Given the description of an element on the screen output the (x, y) to click on. 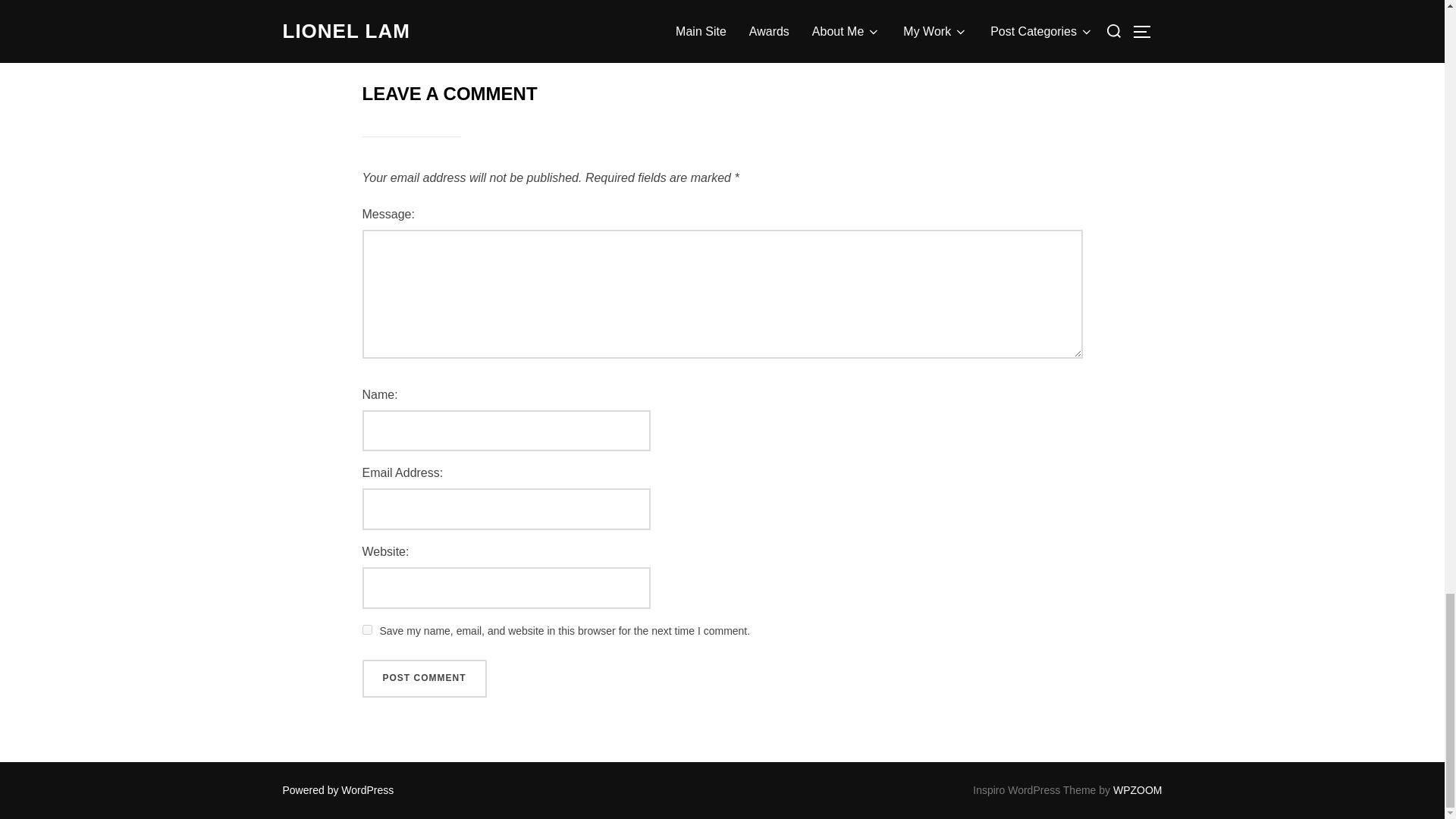
yes (367, 629)
Post Comment (424, 678)
